Given the description of an element on the screen output the (x, y) to click on. 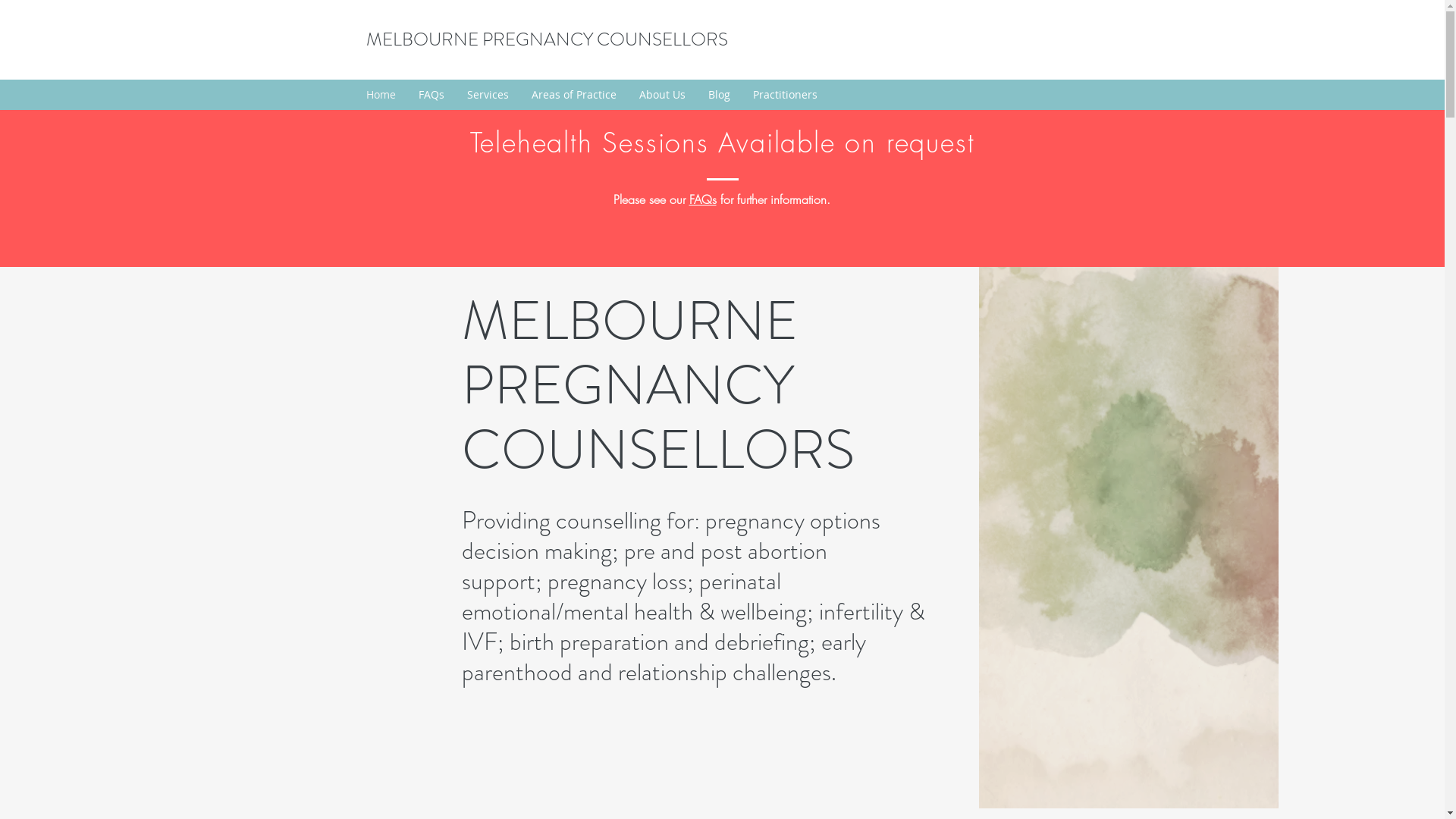
Home Element type: text (380, 94)
FAQs Element type: text (430, 94)
FAQs Element type: text (701, 199)
Blog Element type: text (718, 94)
